Given the description of an element on the screen output the (x, y) to click on. 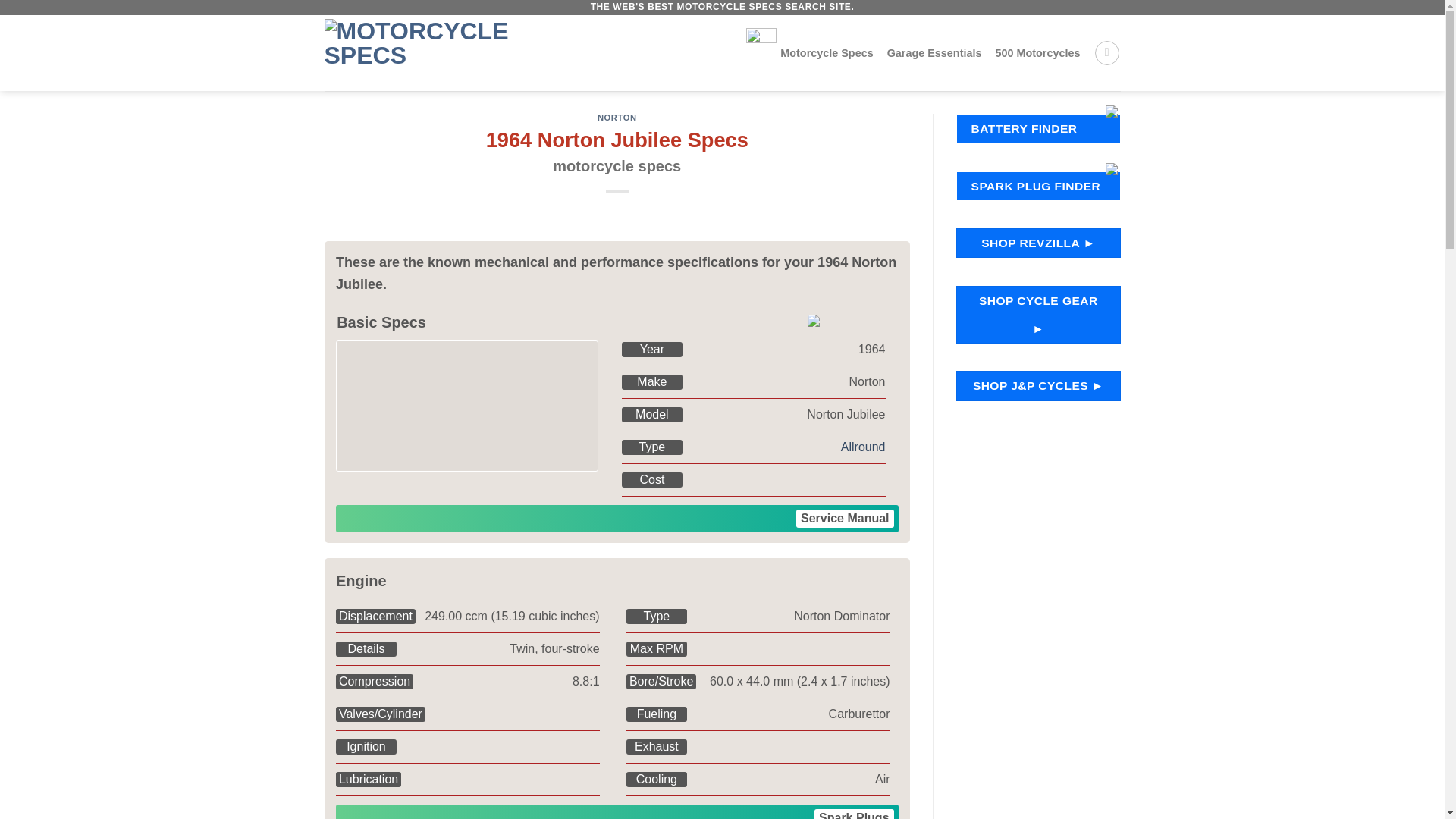
NORTON (616, 117)
Motorcycle Specs (808, 52)
Spark Plugs (617, 151)
Roll the dice to see which random 500 motorcycles you get! (853, 814)
Shop motorcycle parts, accessories and gear on RevZilla. (1037, 52)
Service Manual (1038, 242)
Allround (844, 518)
Garage Essentials (863, 446)
Shop motorcycle parts, accessories and gear on Cycle Gear. (933, 52)
